Given the description of an element on the screen output the (x, y) to click on. 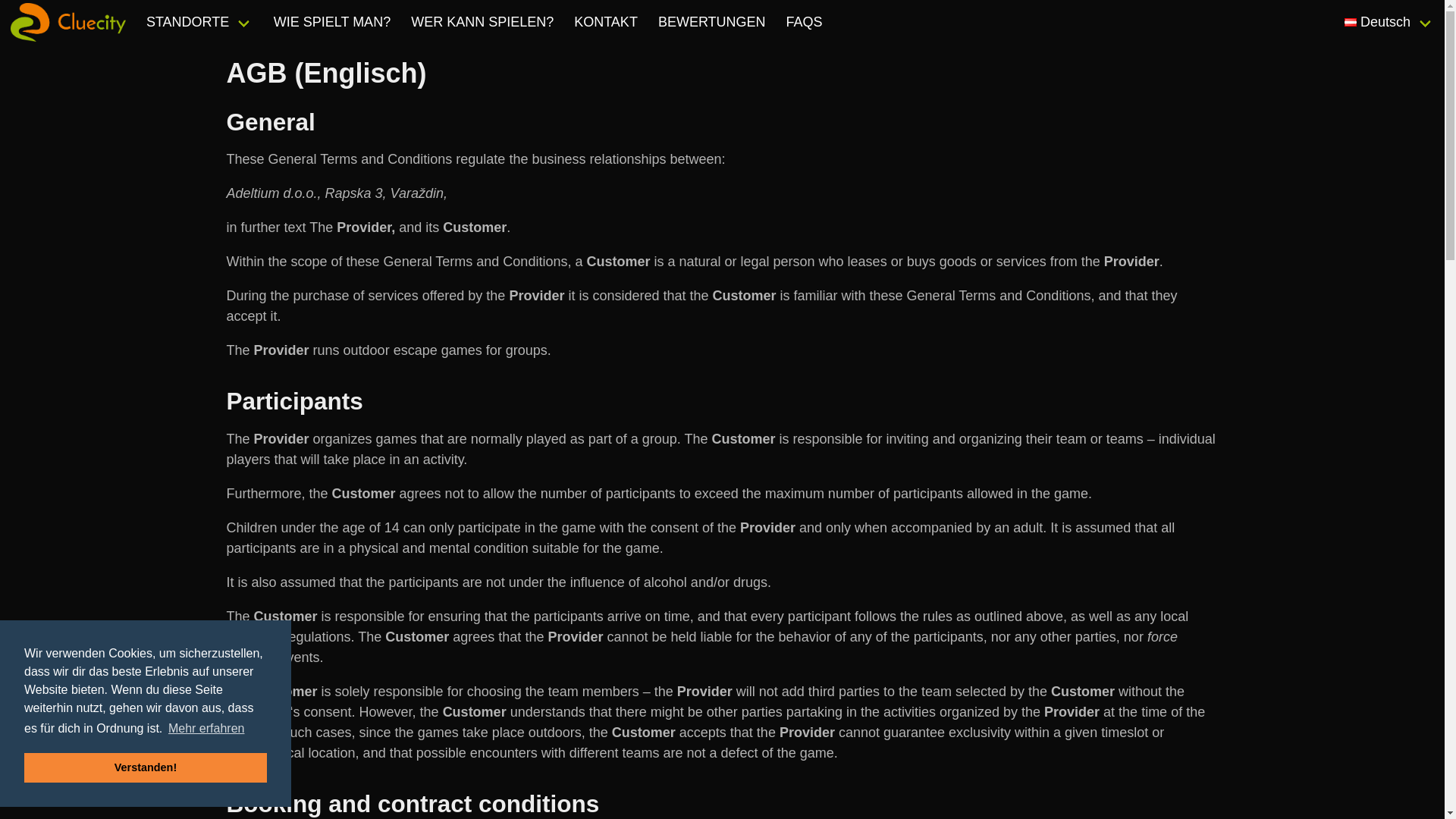
WIE SPIELT MAN? (331, 22)
Mehr erfahren (206, 728)
BEWERTUNGEN (711, 22)
KONTAKT (605, 22)
FAQS (804, 22)
BEWERTUNGEN (711, 22)
STANDORTE (199, 22)
WER KANN SPIELEN? (482, 22)
Verstanden! (145, 767)
WIE SPIELT MAN? (331, 22)
